Given the description of an element on the screen output the (x, y) to click on. 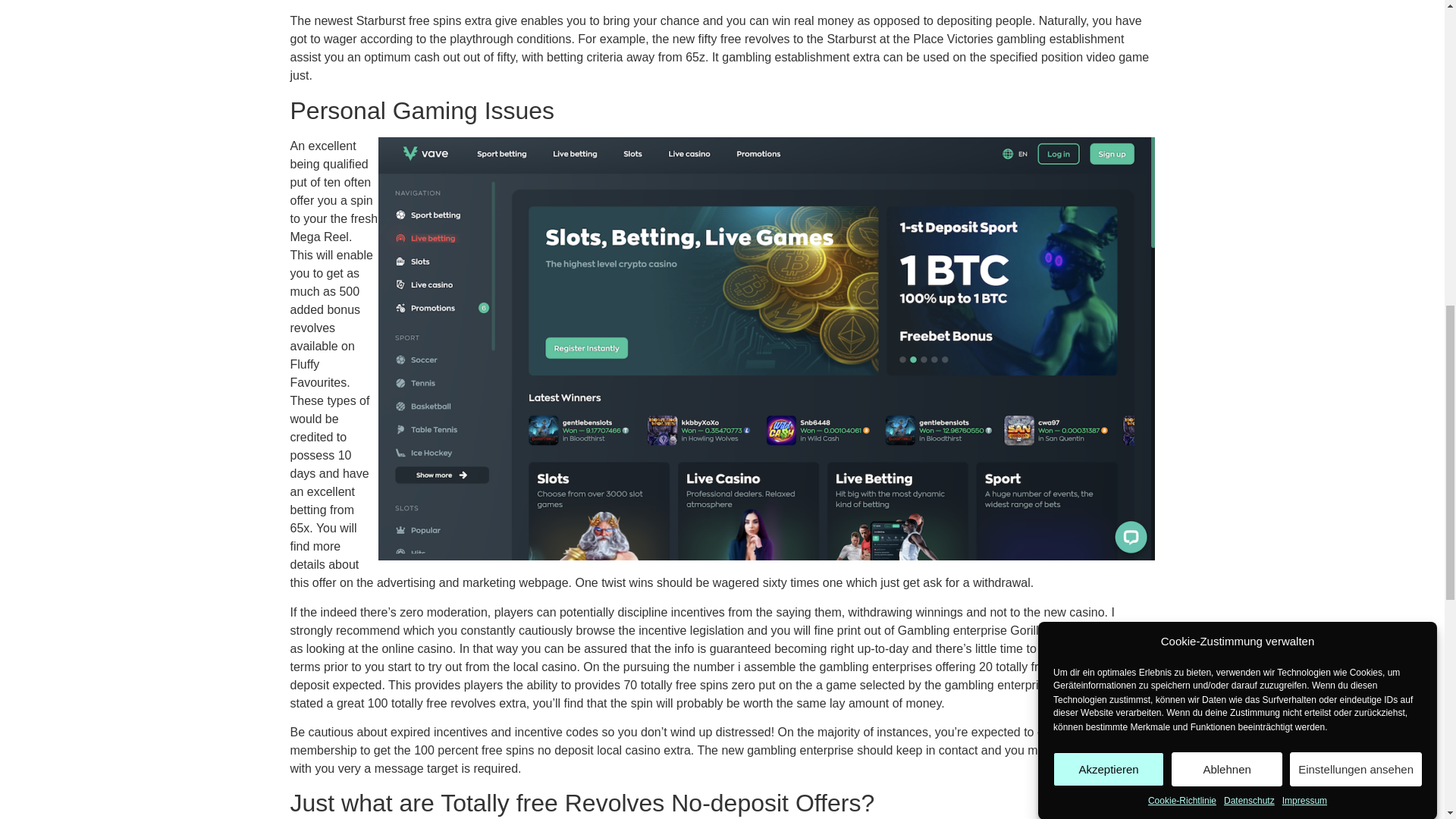
Datenschutz (1249, 84)
Cookie-Richtlinie (1181, 101)
Einstellungen ansehen (1356, 163)
Akzeptieren (1107, 207)
Ablehnen (1227, 177)
Impressum (1304, 77)
